Given the description of an element on the screen output the (x, y) to click on. 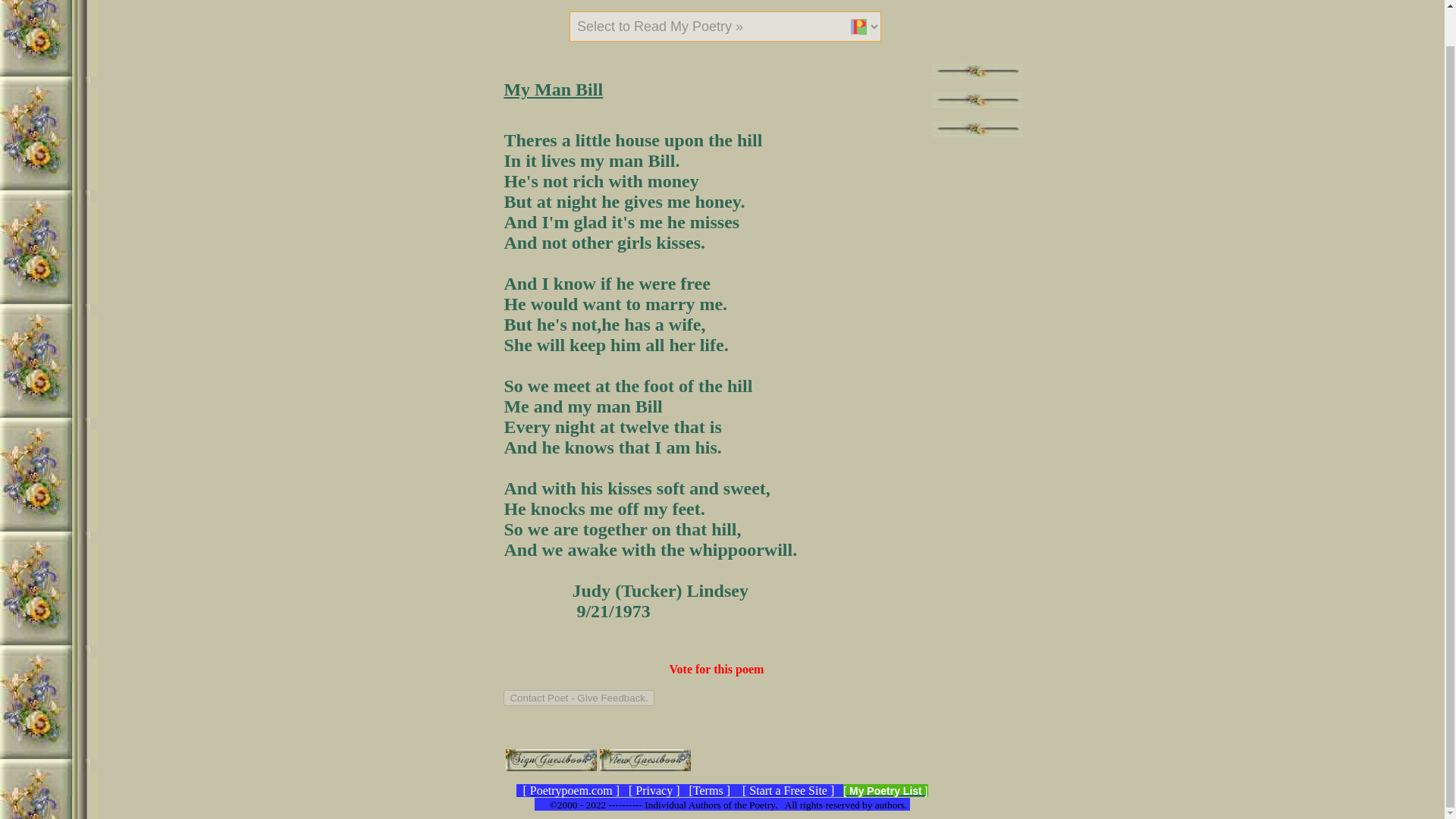
Contact Poet - Give Feedback. (578, 697)
Start a Free Site (788, 789)
Terms (708, 789)
Vote for this poem (716, 668)
Privacy (653, 789)
Poetrypoem.com (570, 789)
